Given the description of an element on the screen output the (x, y) to click on. 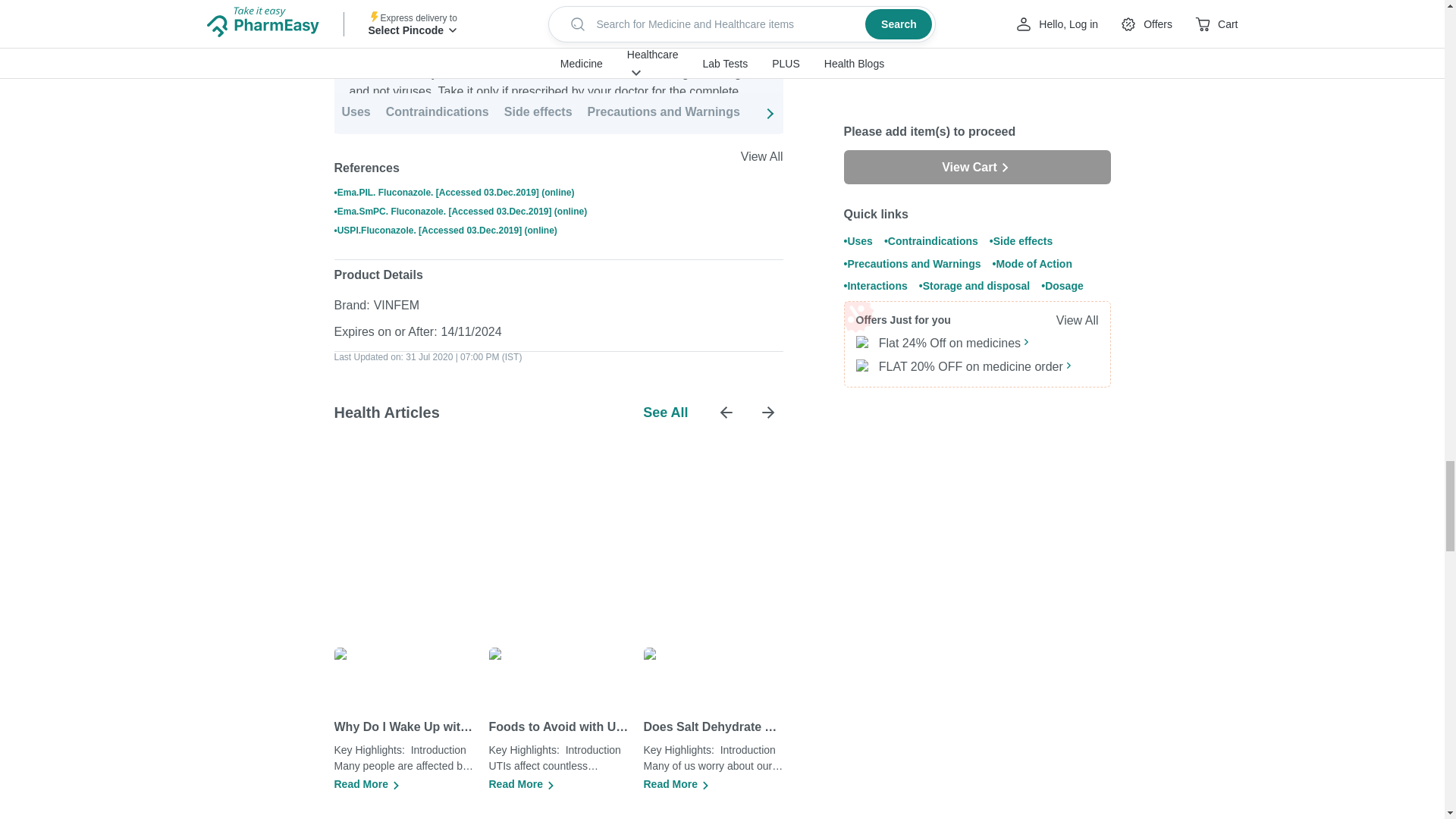
See All (665, 412)
